Given the description of an element on the screen output the (x, y) to click on. 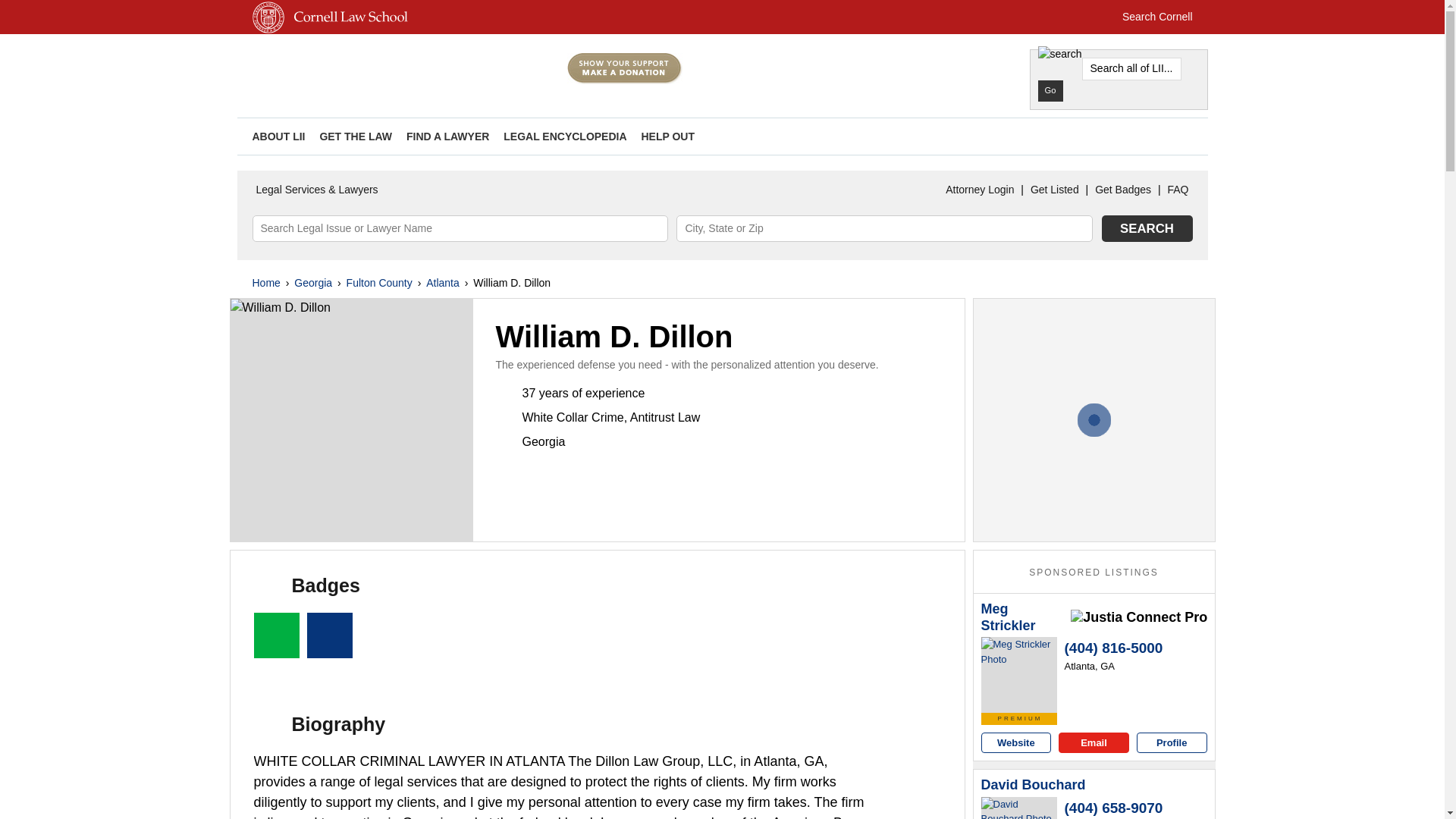
SPONSORED LISTINGS (1093, 572)
Get Listed (1054, 189)
FAQ (1177, 189)
David Bouchard (1019, 807)
Go (1049, 90)
FIND A LAWYER (447, 136)
twitter follow (1125, 136)
City, State or Zip (885, 228)
ABOUT LII (277, 136)
LEGAL ENCYCLOPEDIA (564, 136)
